Given the description of an element on the screen output the (x, y) to click on. 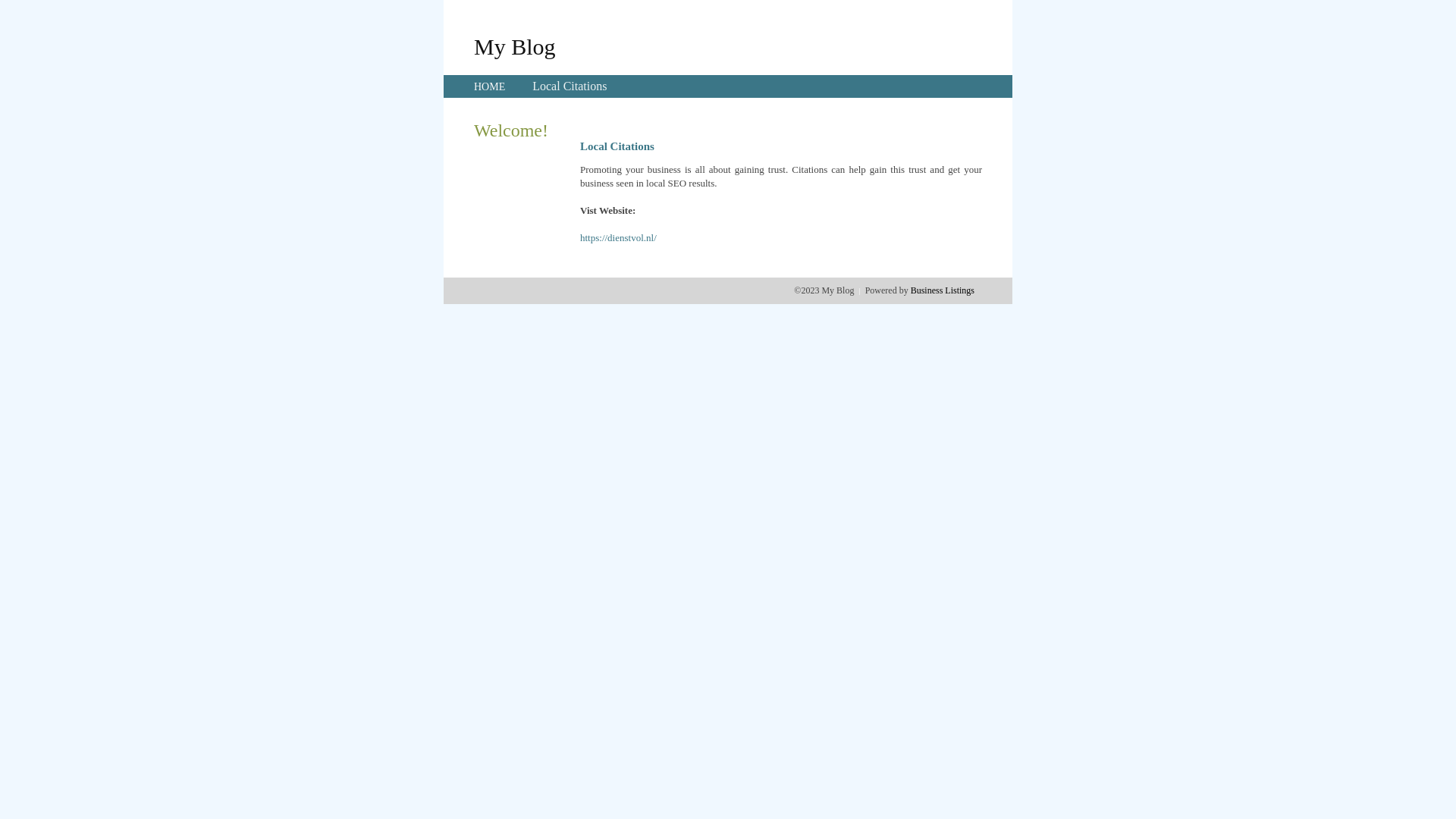
Local Citations Element type: text (569, 85)
Business Listings Element type: text (942, 290)
My Blog Element type: text (514, 46)
HOME Element type: text (489, 86)
https://dienstvol.nl/ Element type: text (618, 237)
